Given the description of an element on the screen output the (x, y) to click on. 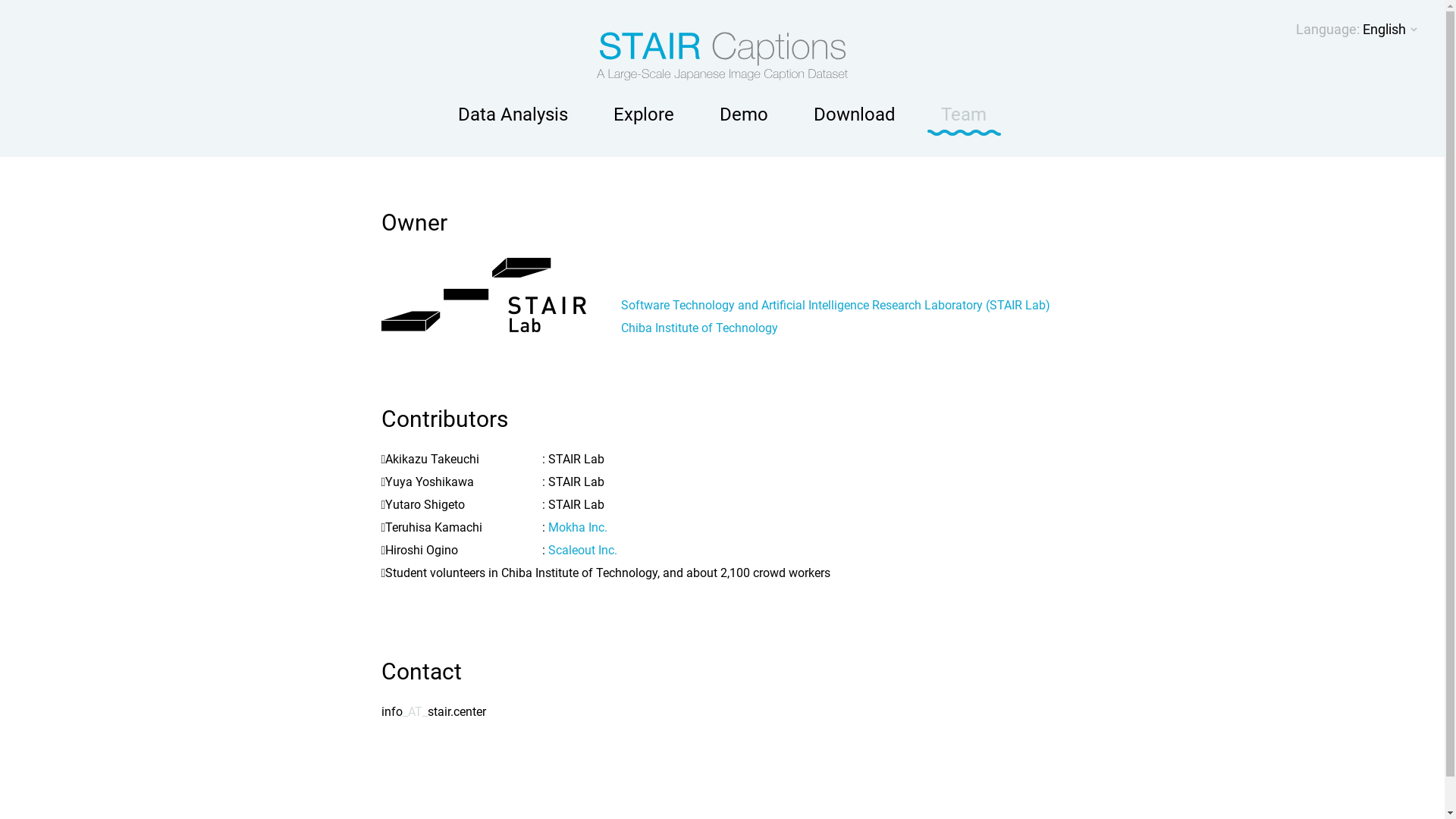
Scaleout Inc. Element type: text (581, 549)
Language: English Element type: text (1356, 29)
Mokha Inc. Element type: text (576, 527)
Demo Element type: text (743, 114)
Team Element type: text (963, 114)
Explore Element type: text (643, 114)
Data Analysis Element type: text (512, 114)
Download Element type: text (854, 114)
STAIR Captions Element type: text (721, 48)
